Given the description of an element on the screen output the (x, y) to click on. 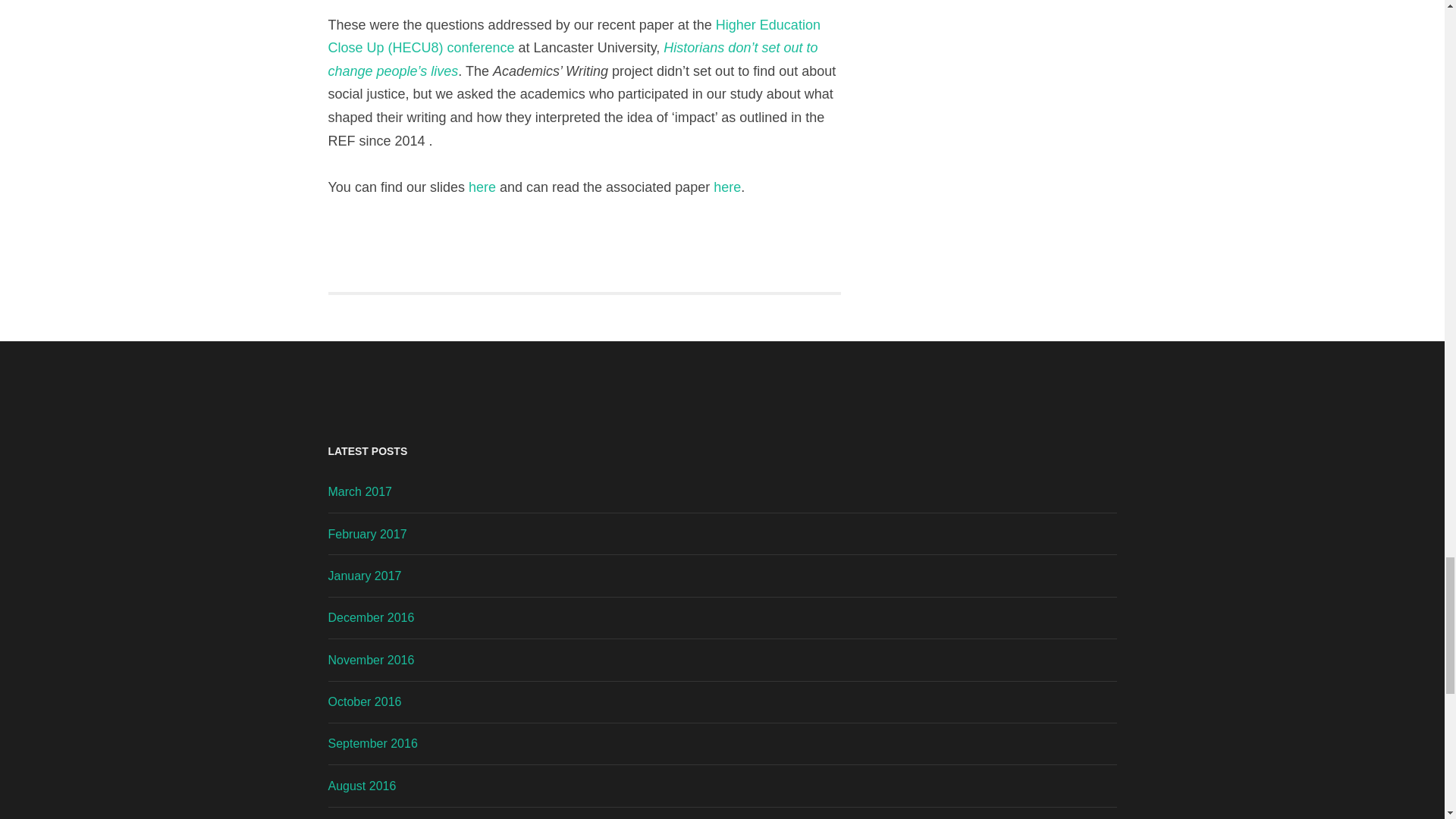
March 2017 (359, 491)
here (727, 186)
here (482, 186)
January 2017 (364, 575)
February 2017 (366, 533)
